Given the description of an element on the screen output the (x, y) to click on. 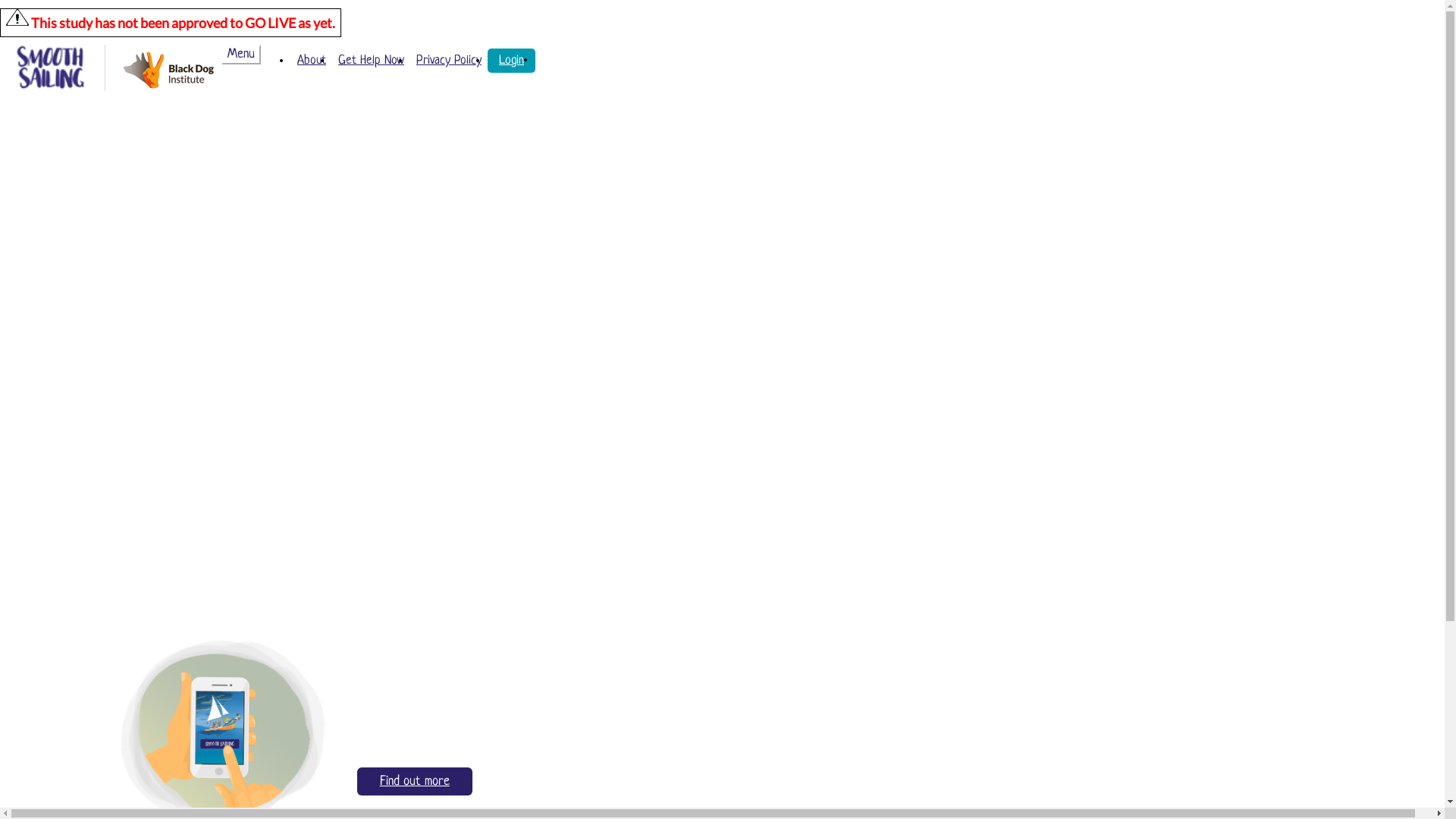
Privacy Policy Element type: text (448, 60)
Login Element type: text (511, 60)
Find out more Element type: text (414, 781)
Get Help Now Element type: text (371, 60)
About Element type: text (311, 60)
